Given the description of an element on the screen output the (x, y) to click on. 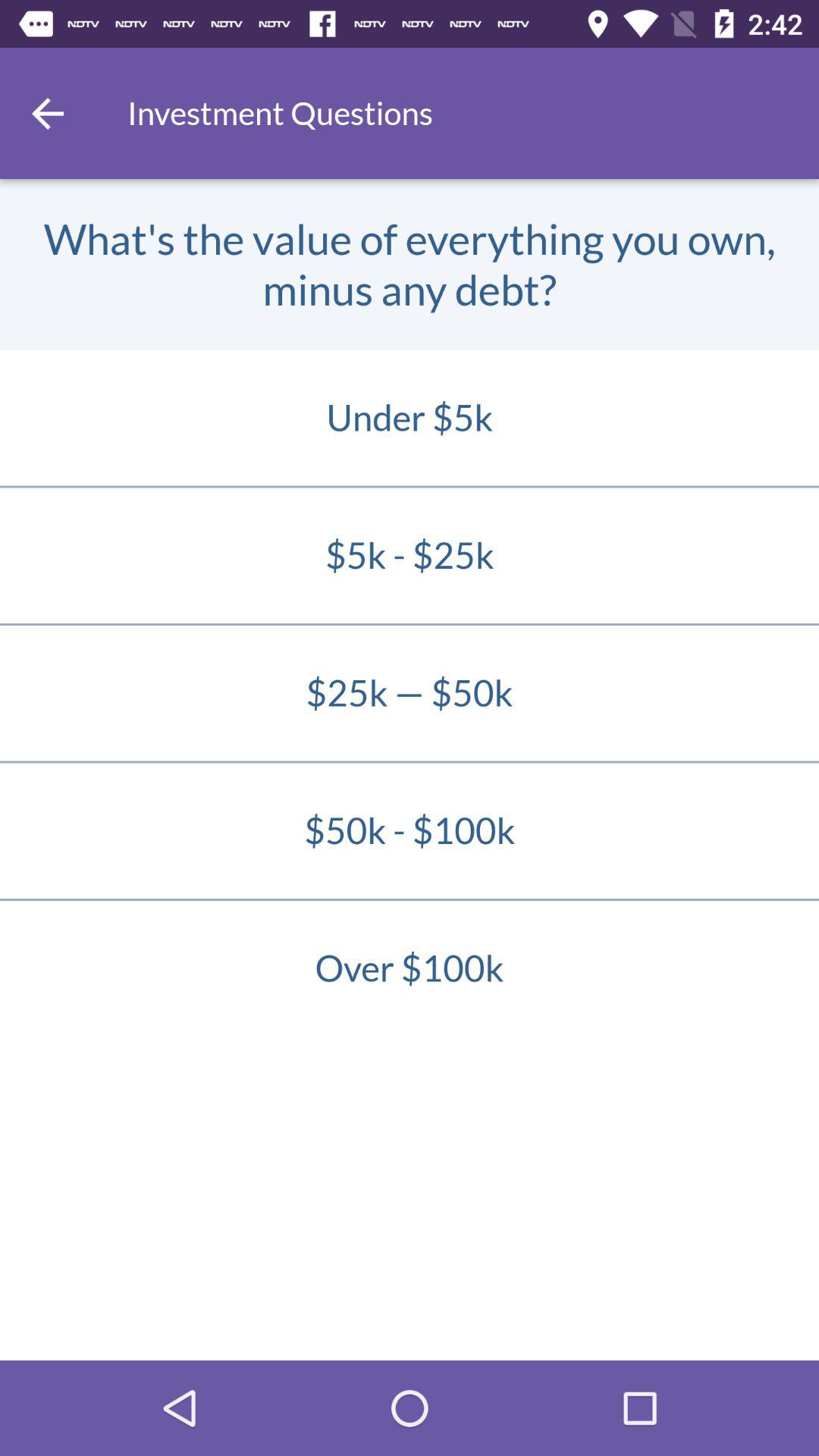
launch the item at the top left corner (47, 113)
